Given the description of an element on the screen output the (x, y) to click on. 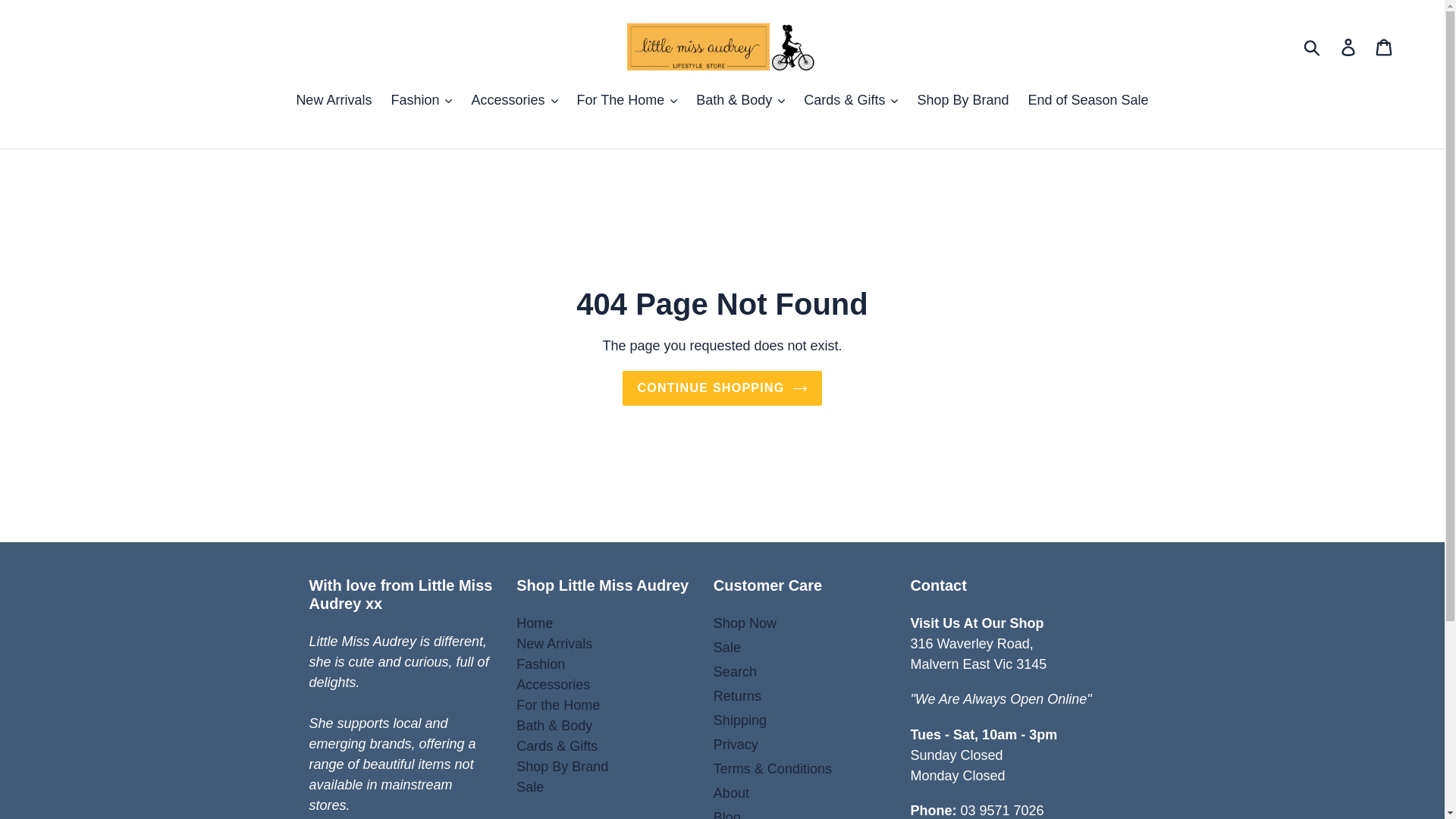
New Arrivals (554, 643)
Cart (1385, 46)
Fashion (540, 663)
For The Home (557, 704)
Log in (1349, 46)
Shop By Brands (562, 766)
Submit (1313, 46)
Sale (529, 786)
